Given the description of an element on the screen output the (x, y) to click on. 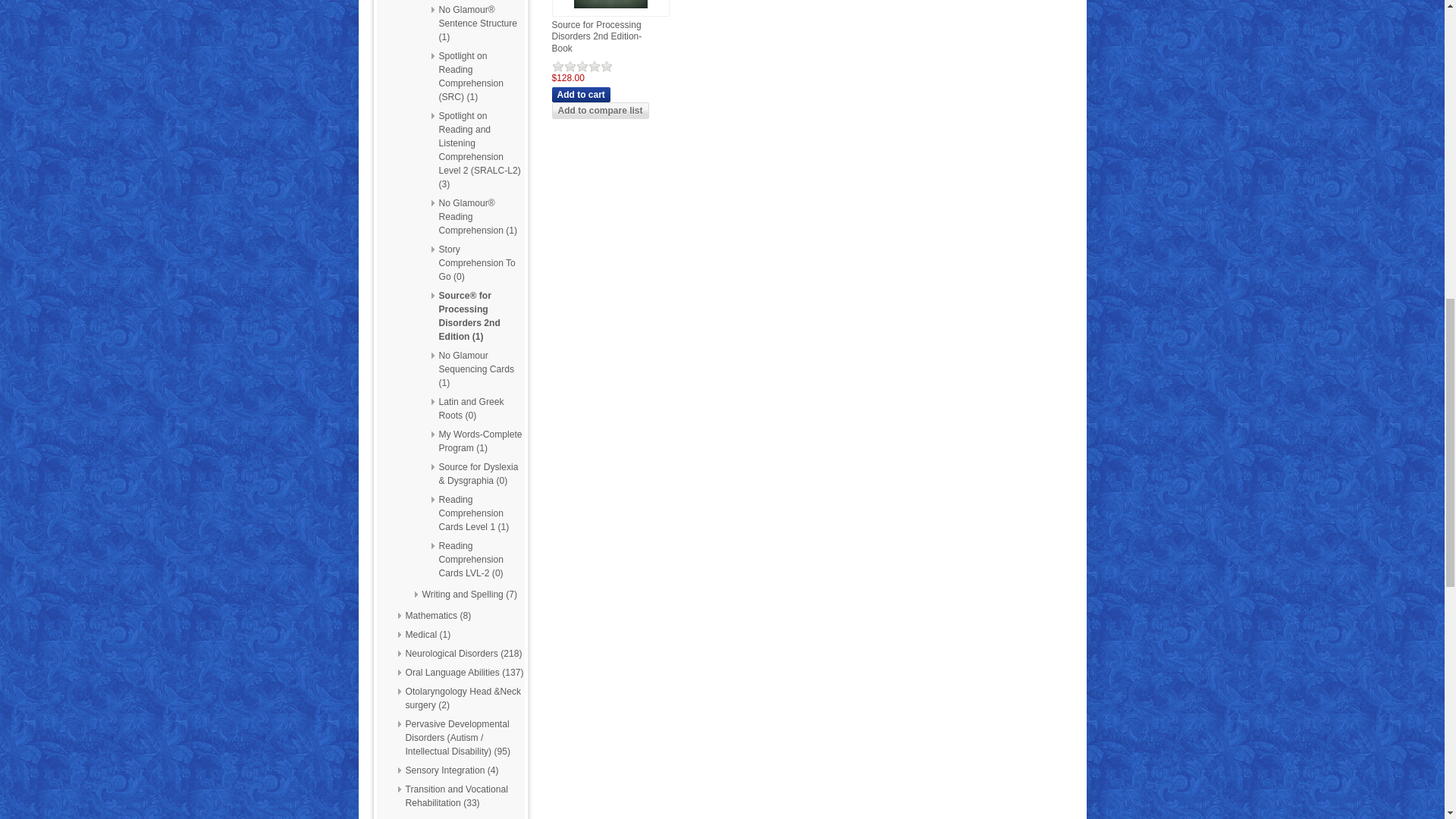
Add to cart (580, 94)
Add to compare list (600, 110)
Add to compare list (600, 110)
